Given the description of an element on the screen output the (x, y) to click on. 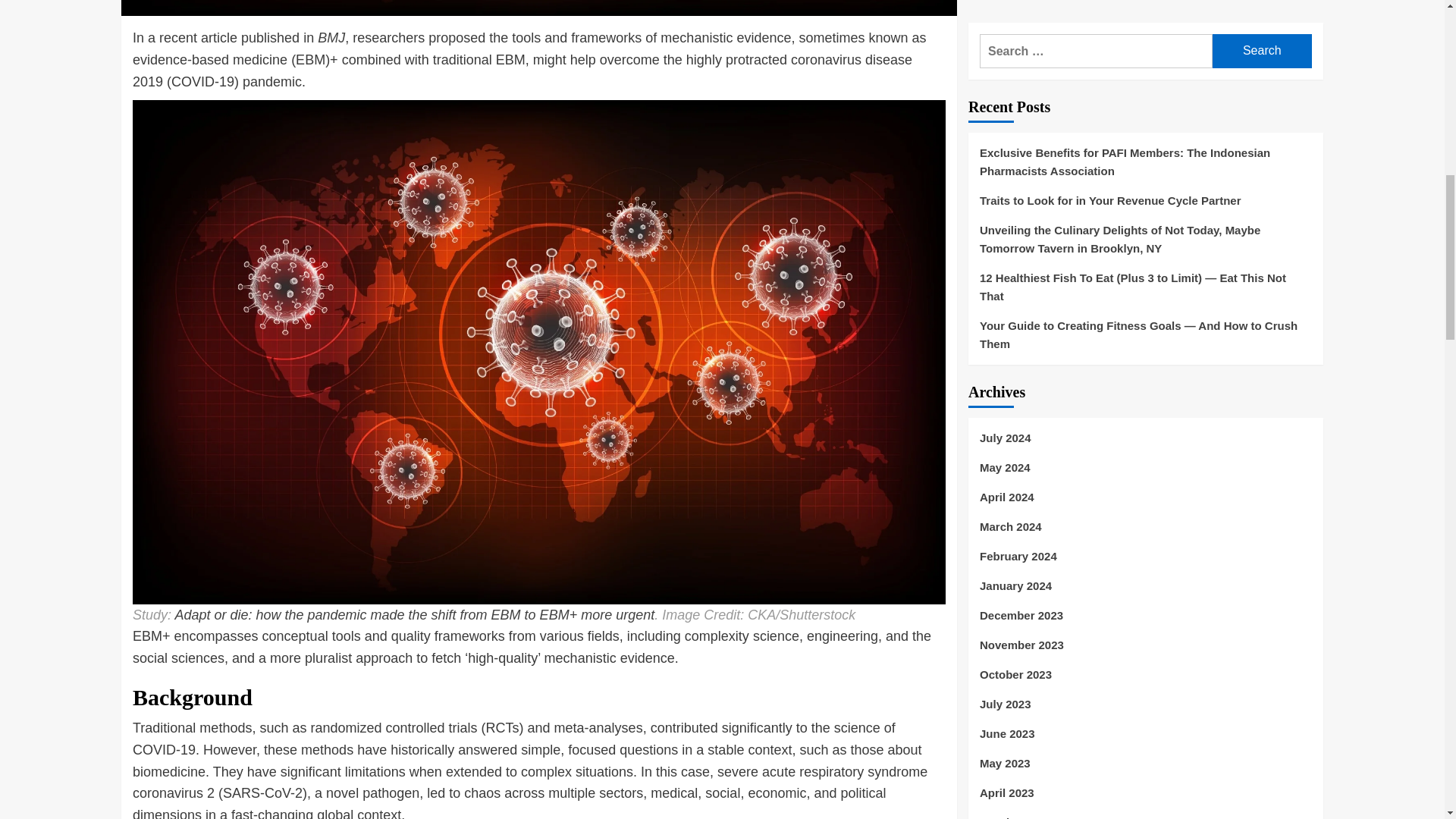
BMJ (331, 37)
